Given the description of an element on the screen output the (x, y) to click on. 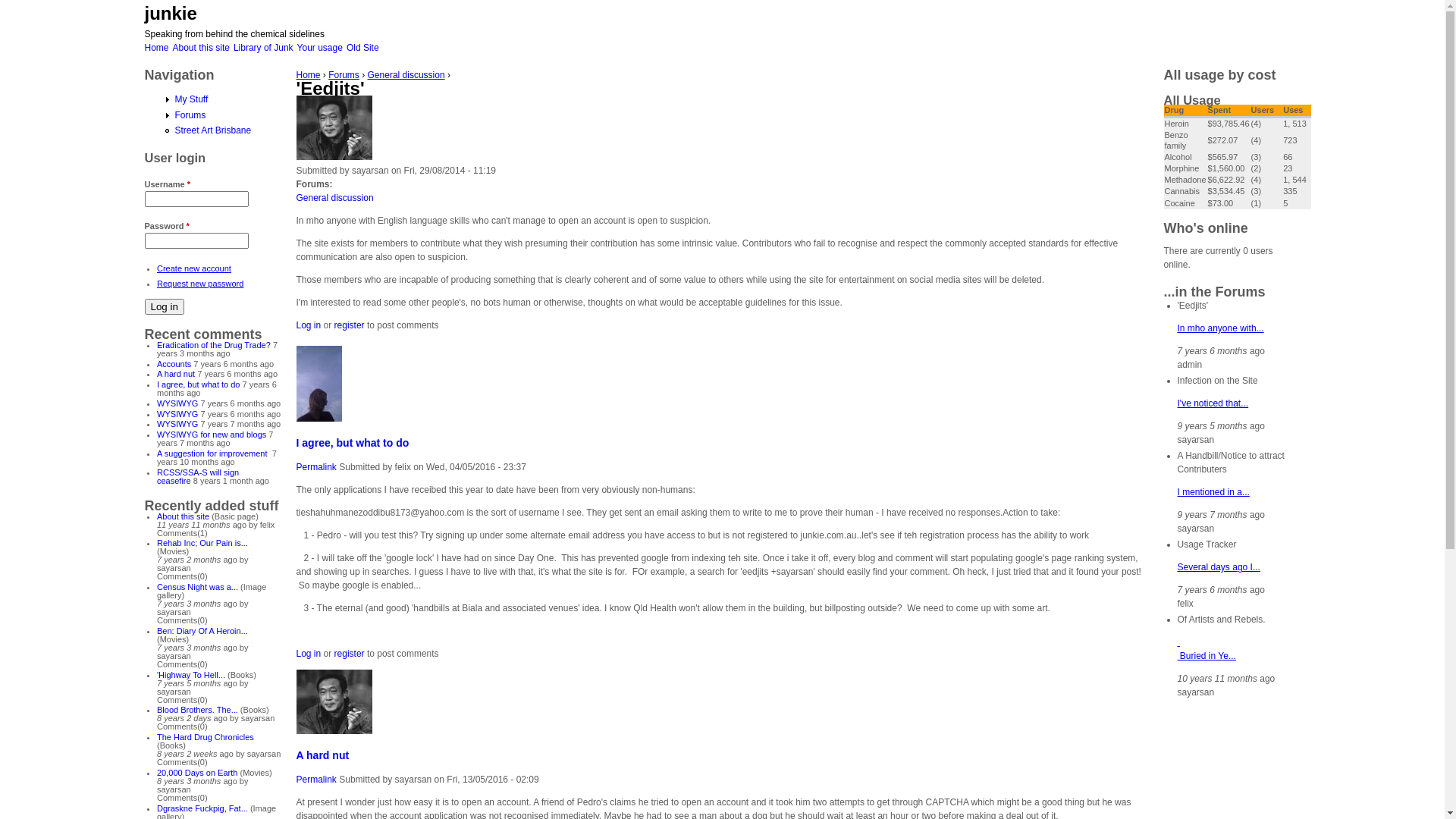
I agree, but what to do Element type: text (351, 442)
Forums Element type: text (189, 114)
Dgraskne Fuckpig, Fat... Element type: text (201, 807)
felix's picture Element type: hover (318, 383)
RCSS/SSA-S will sign ceasefire Element type: text (197, 476)
I've noticed that... Element type: text (1212, 403)
WYSIWYG Element type: text (176, 423)
WYSIWYG for new and blogs Element type: text (211, 434)
Several days ago I... Element type: text (1217, 566)
Old Site Element type: text (362, 47)
sayarsan's picture Element type: hover (333, 701)
Library of Junk Element type: text (263, 47)
 
 Buried in Ye... Element type: text (1205, 649)
I mentioned in a... Element type: text (1212, 491)
Create new account Element type: text (193, 268)
In mho anyone with... Element type: text (1219, 328)
Your usage Element type: text (319, 47)
20,000 Days on Earth Element type: text (196, 772)
register Element type: text (349, 653)
Log in Element type: text (307, 325)
Forums Element type: text (343, 74)
Permalink Element type: text (315, 779)
General discussion Element type: text (334, 197)
My Stuff Element type: text (190, 99)
Ben: Diary Of A Heroin... Element type: text (201, 630)
Log in Element type: text (163, 306)
WYSIWYG Element type: text (176, 413)
Home Element type: text (307, 74)
The Hard Drug Chronicles Element type: text (205, 736)
sayarsan's picture Element type: hover (333, 127)
About this site Element type: text (200, 47)
Rehab Inc; Our Pain is... Element type: text (201, 542)
Home Element type: text (156, 47)
register Element type: text (349, 325)
Census Night was a... Element type: text (197, 586)
Request new password Element type: text (199, 283)
Jump to navigation Element type: text (722, 2)
Eradication of the Drug Trade? Element type: text (213, 344)
WYSIWYG Element type: text (176, 402)
About this site Element type: text (182, 515)
Street Art Brisbane Element type: text (212, 130)
Permalink Element type: text (315, 466)
Accounts Element type: text (173, 363)
I agree, but what to do Element type: text (197, 384)
General discussion Element type: text (406, 74)
A hard nut Element type: text (175, 373)
Log in Element type: text (307, 653)
'Highway To Hell... Element type: text (190, 674)
junkie Element type: text (170, 13)
Blood Brothers. The... Element type: text (197, 709)
A suggestion for improvement Element type: text (212, 453)
A hard nut Element type: text (321, 755)
